Given the description of an element on the screen output the (x, y) to click on. 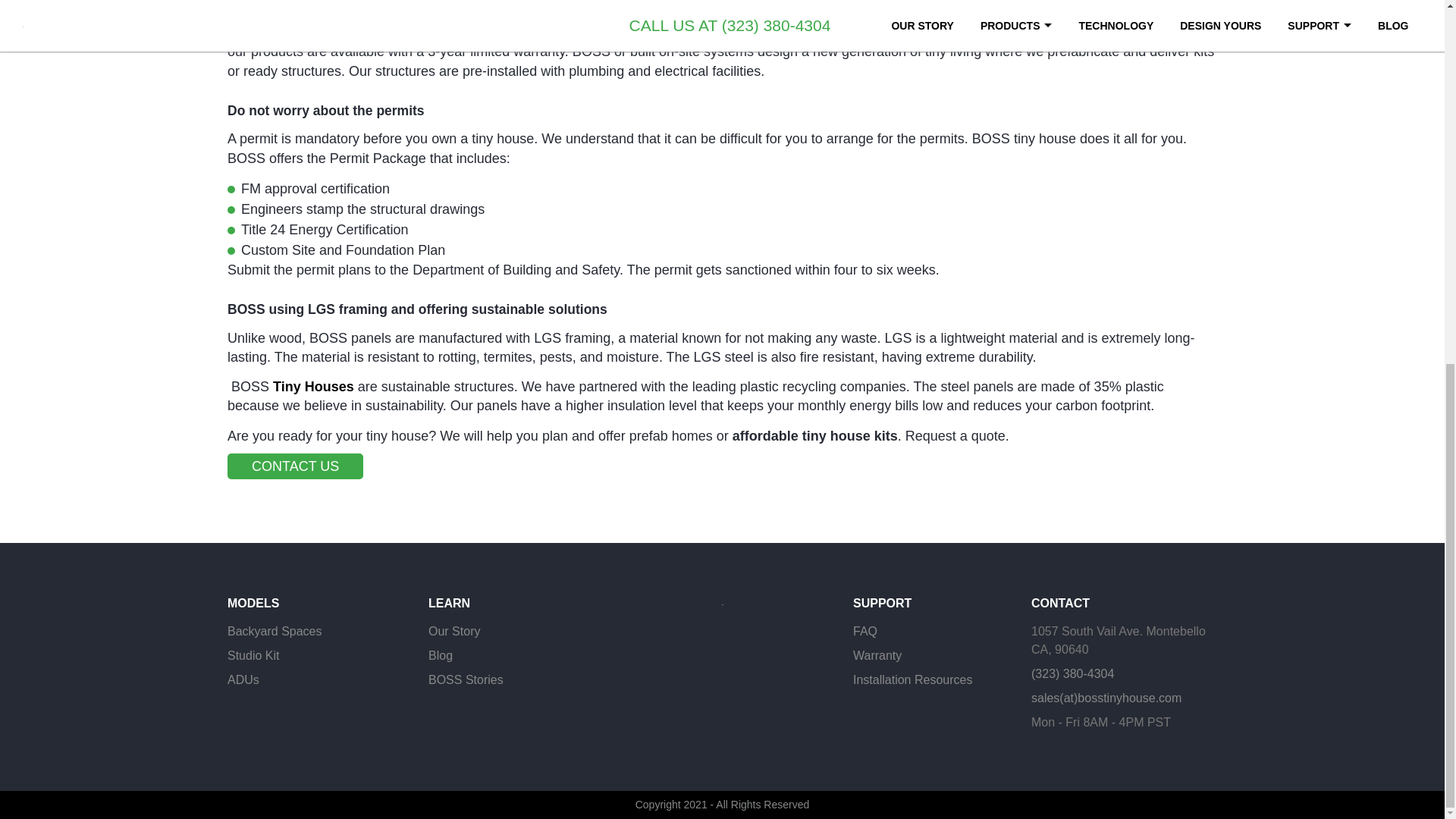
Backyard Spaces (274, 631)
Tiny Houses (313, 386)
Warranty (877, 655)
BOSS Stories (465, 680)
Our Story (454, 631)
Tiny Houses (313, 386)
Blog (440, 655)
CONTACT US (294, 466)
FAQ (865, 631)
Studio Kit (253, 655)
ADUs (243, 680)
Installation Resources (912, 680)
